Given the description of an element on the screen output the (x, y) to click on. 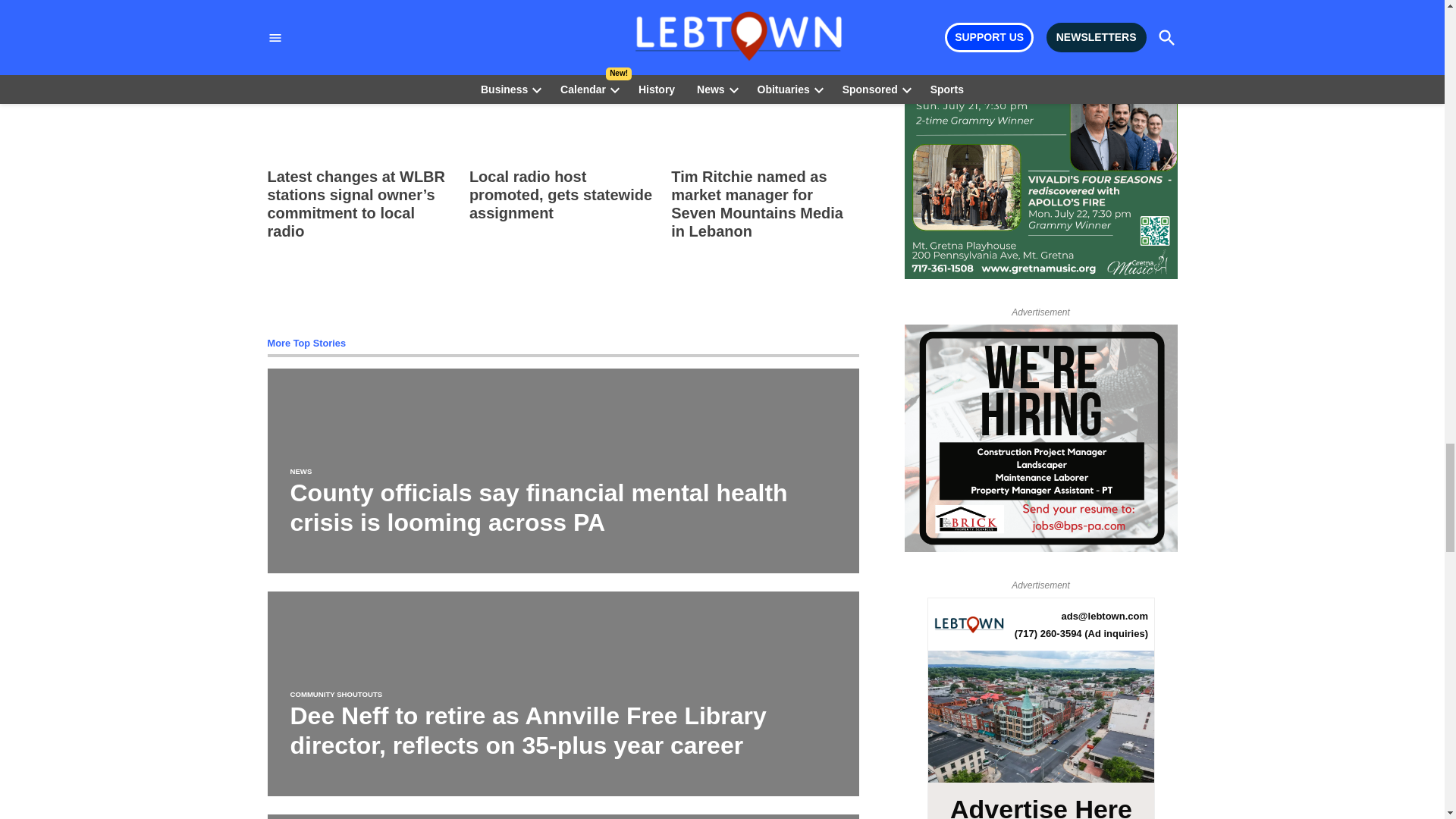
Gretna Music Ad (1040, 168)
Now Hiring (1040, 440)
Pennsylvania's Home for Popular Music (1040, 6)
Local radio host promoted, gets statewide assignment (562, 106)
Local radio host promoted, gets statewide assignment (560, 194)
